Given the description of an element on the screen output the (x, y) to click on. 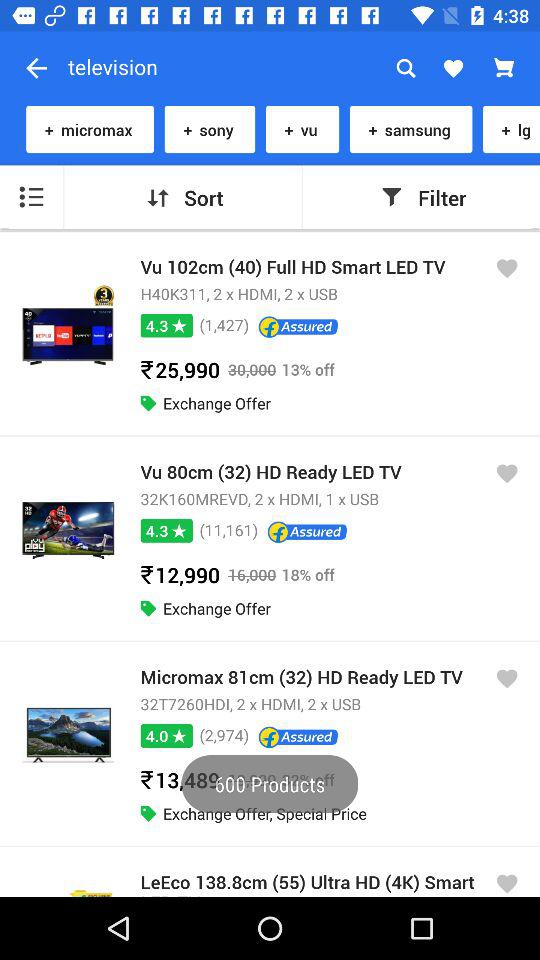
click on the icon left adjacent to the filter (391, 197)
select the left arrow left to television (36, 67)
select the last green icon under the micromax 81 cm32hd ready led tv (148, 813)
